Given the description of an element on the screen output the (x, y) to click on. 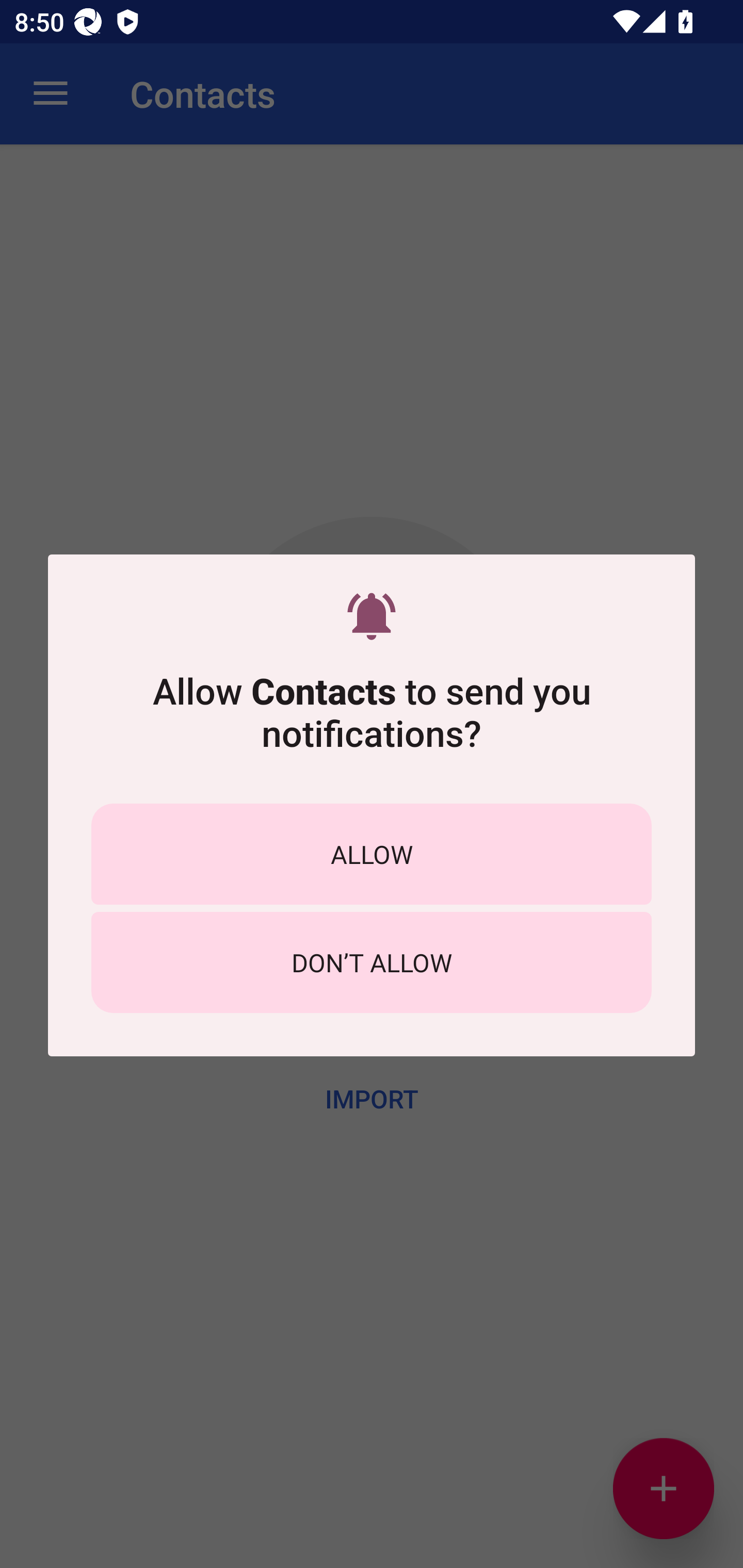
ALLOW (371, 853)
DON’T ALLOW (371, 962)
